Given the description of an element on the screen output the (x, y) to click on. 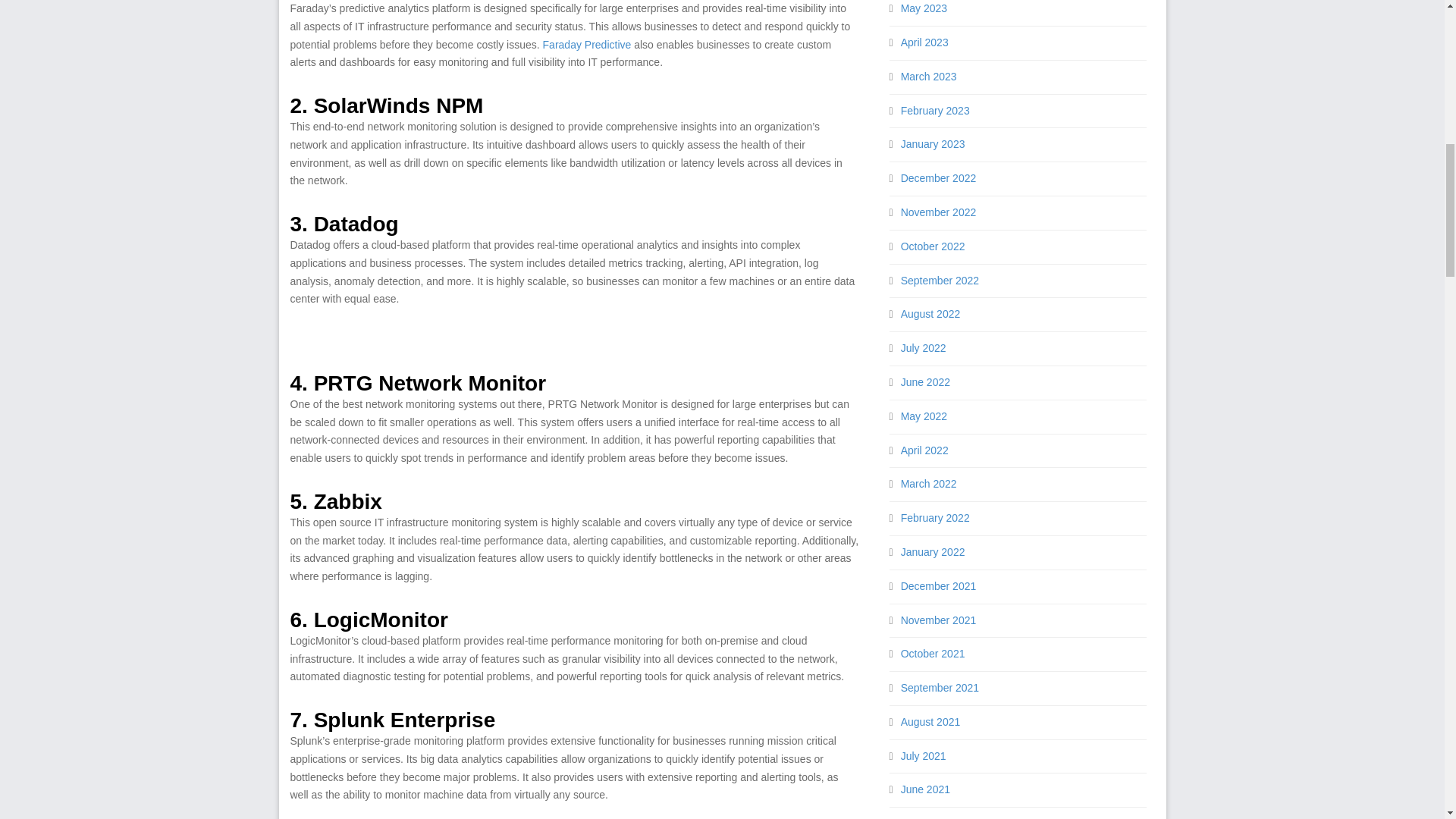
April 2023 (925, 76)
October 2022 (933, 280)
May 2023 (924, 42)
June 2023 (925, 8)
February 2023 (935, 143)
March 2023 (928, 110)
Faraday Predictive (587, 44)
November 2022 (938, 246)
December 2022 (938, 212)
January 2023 (933, 177)
